Given the description of an element on the screen output the (x, y) to click on. 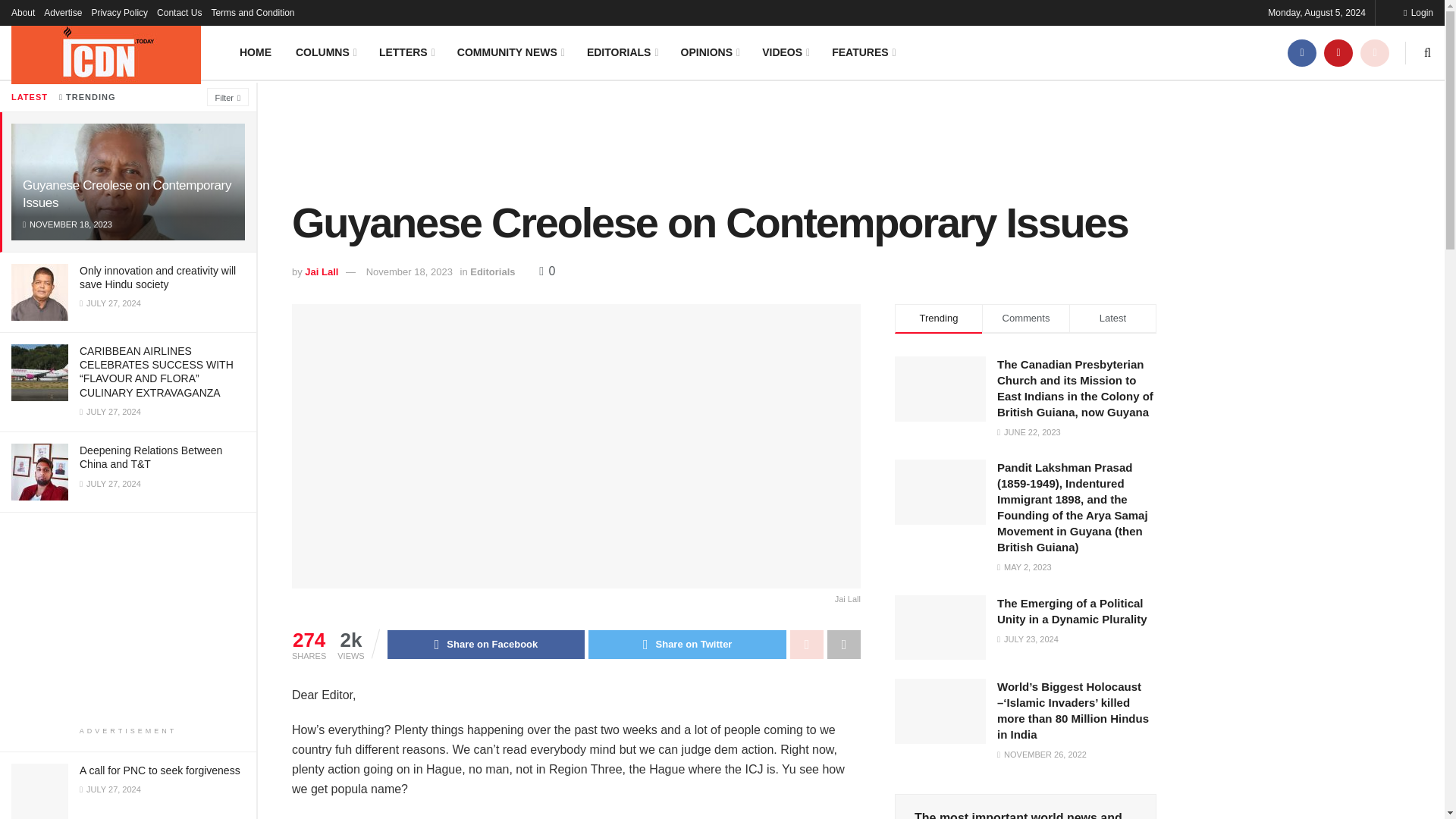
Advertisement (127, 618)
Privacy Policy (119, 12)
Filter (227, 96)
Advertise (62, 12)
Advertisement (724, 137)
A call for PNC to seek forgiveness (160, 770)
Guyanese Creolese on Contemporary Issues (127, 193)
Only innovation and creativity will save Hindu society (157, 277)
Contact Us (179, 12)
About (22, 12)
Terms and Condition (252, 12)
